Given the description of an element on the screen output the (x, y) to click on. 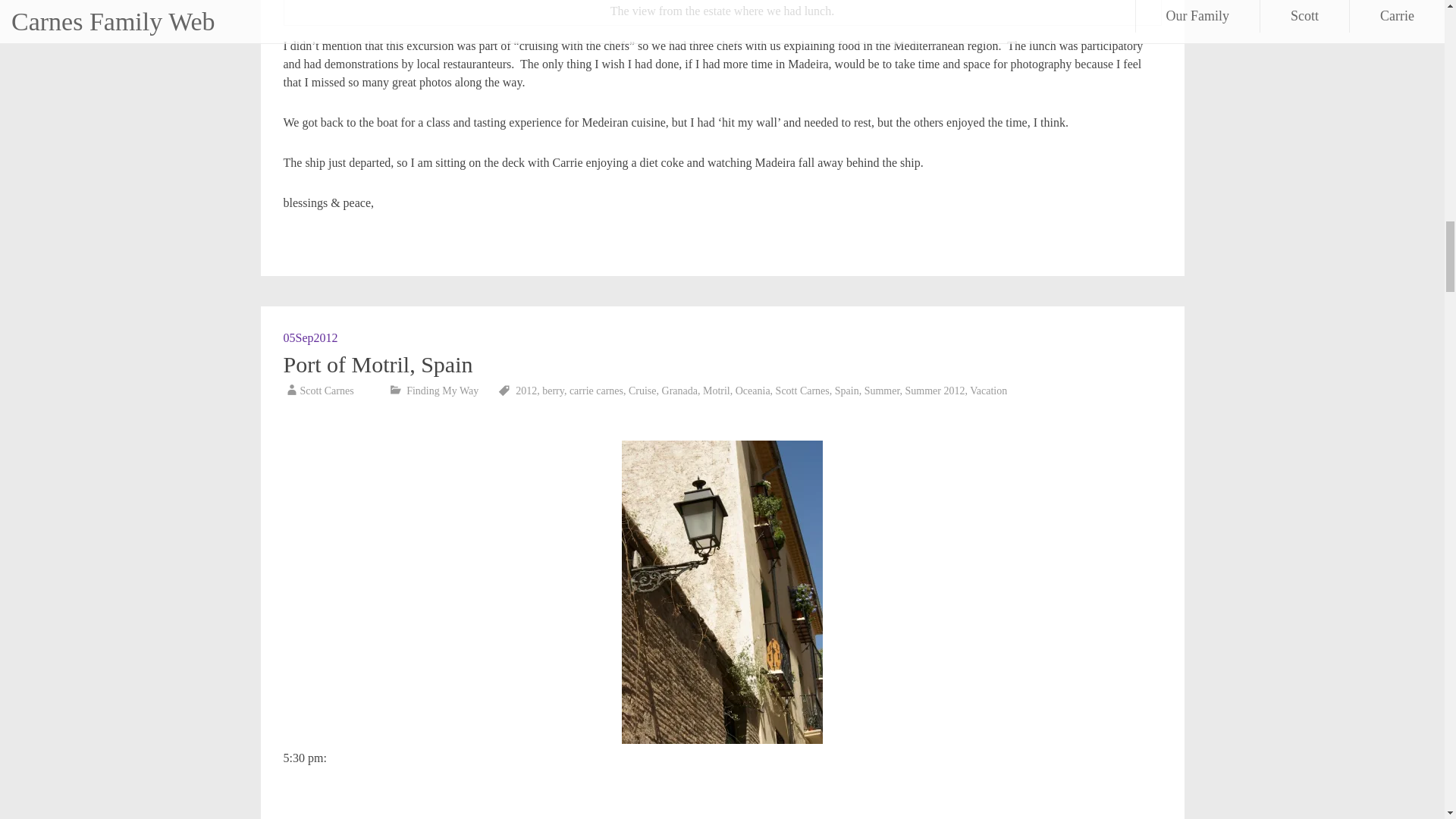
2012 (526, 390)
Finding My Way (442, 390)
05Sep2012 (310, 337)
Port of Motril, Spain (378, 364)
5:32 pm (310, 337)
berry (552, 390)
Scott Carnes (326, 390)
